Given the description of an element on the screen output the (x, y) to click on. 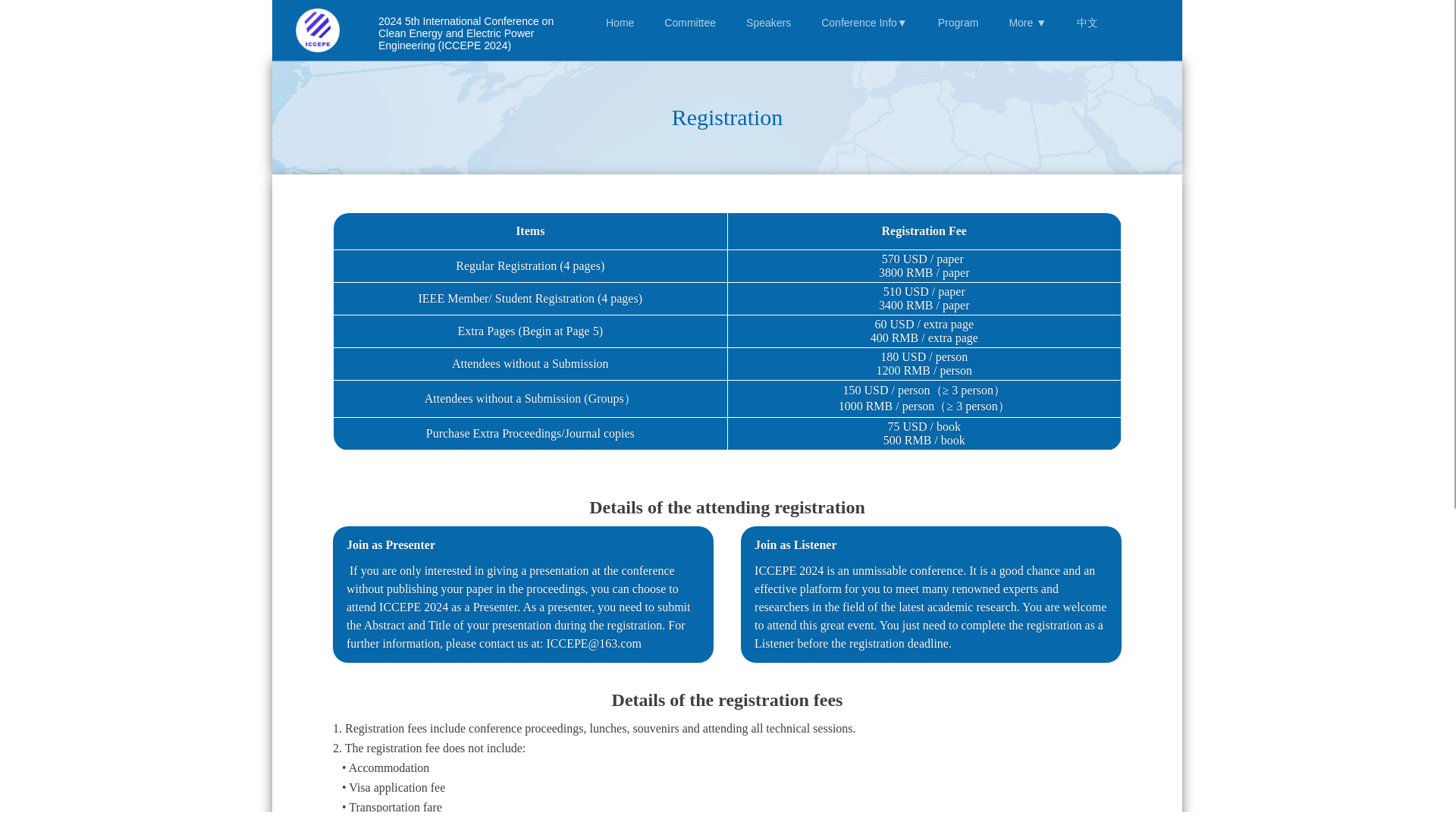
Program (958, 22)
Speakers (768, 22)
Committee (689, 22)
Home (620, 22)
